Given the description of an element on the screen output the (x, y) to click on. 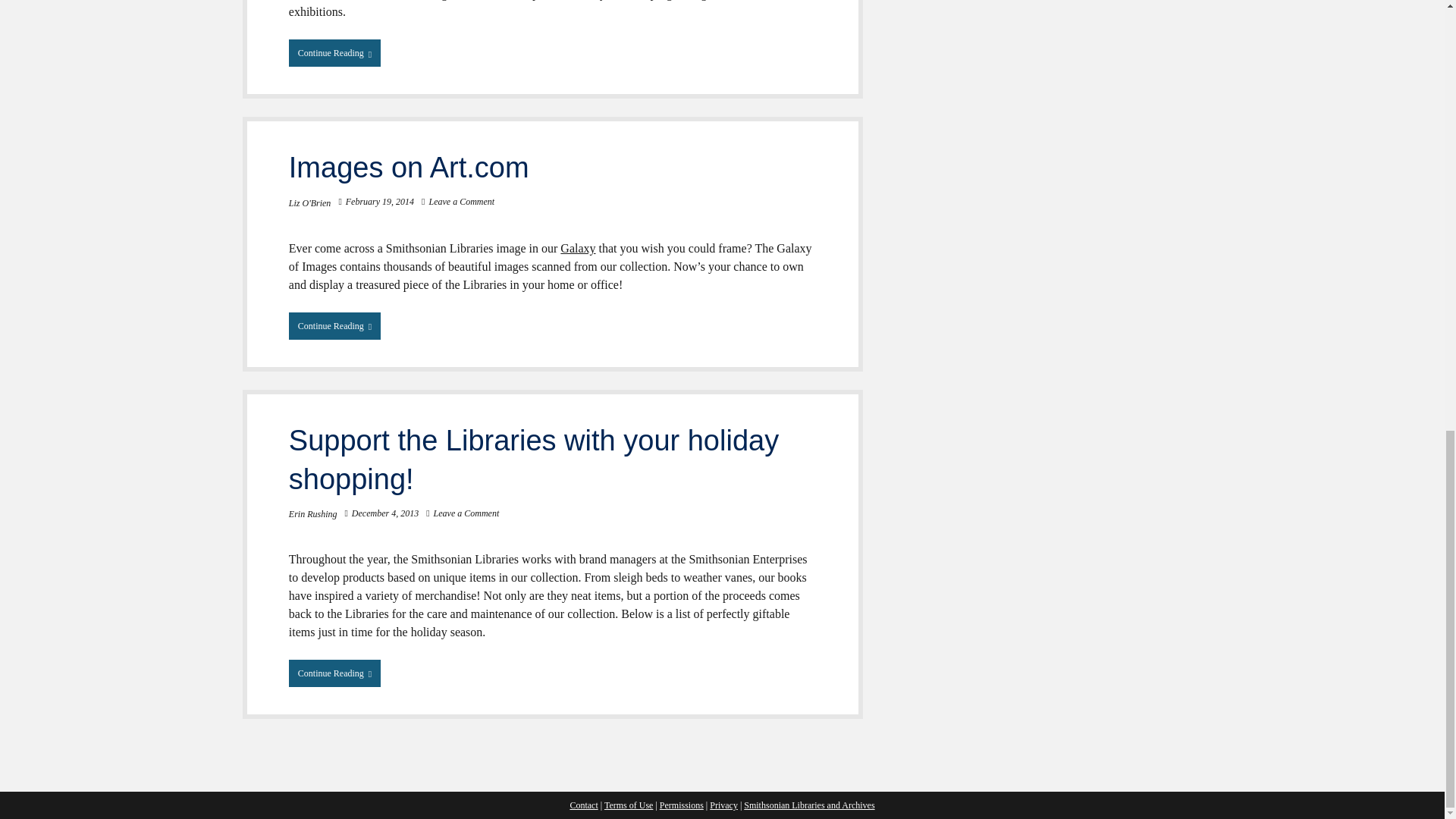
Leave a Comment (466, 512)
Erin Rushing (312, 513)
Support the Libraries with your holiday shopping! (533, 460)
Liz O'Brien (309, 203)
December 4, 2013 (385, 512)
Images on Art.com (408, 167)
February 19, 2014 (379, 201)
Leave a Comment (461, 201)
Galaxy (334, 325)
